Given the description of an element on the screen output the (x, y) to click on. 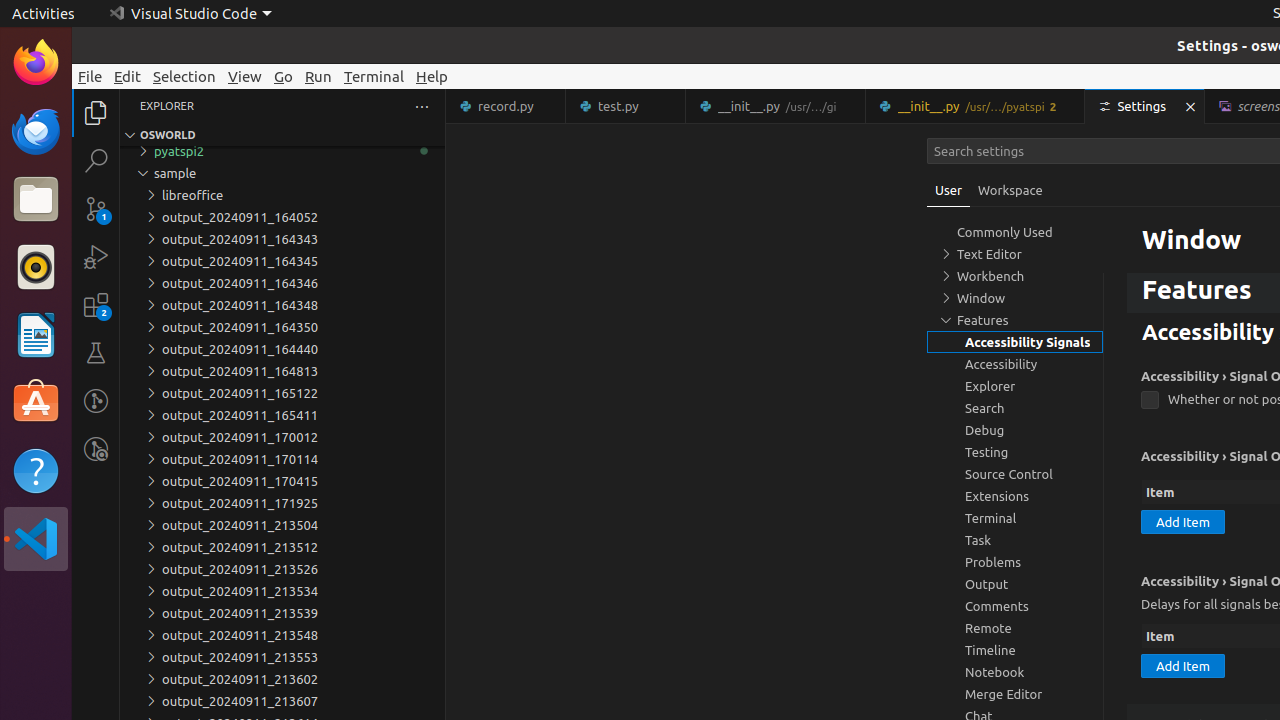
Accessibility, group Element type: tree-item (1015, 364)
output_20240911_213602 Element type: tree-item (282, 679)
Commonly Used, group Element type: tree-item (1015, 232)
Edit Element type: push-button (127, 76)
Run Element type: push-button (318, 76)
